Given the description of an element on the screen output the (x, y) to click on. 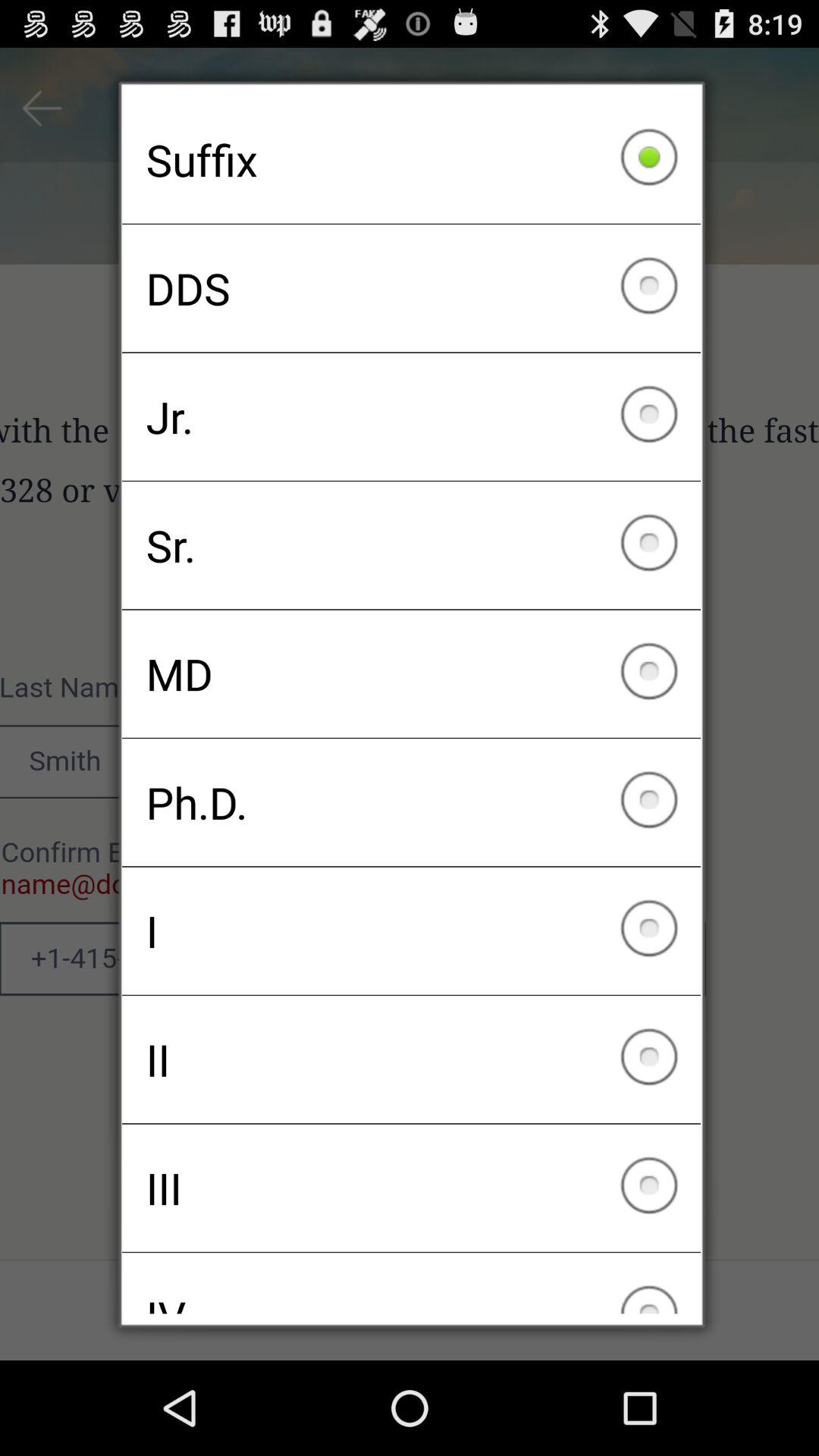
choose the icon below the jr. (411, 545)
